Given the description of an element on the screen output the (x, y) to click on. 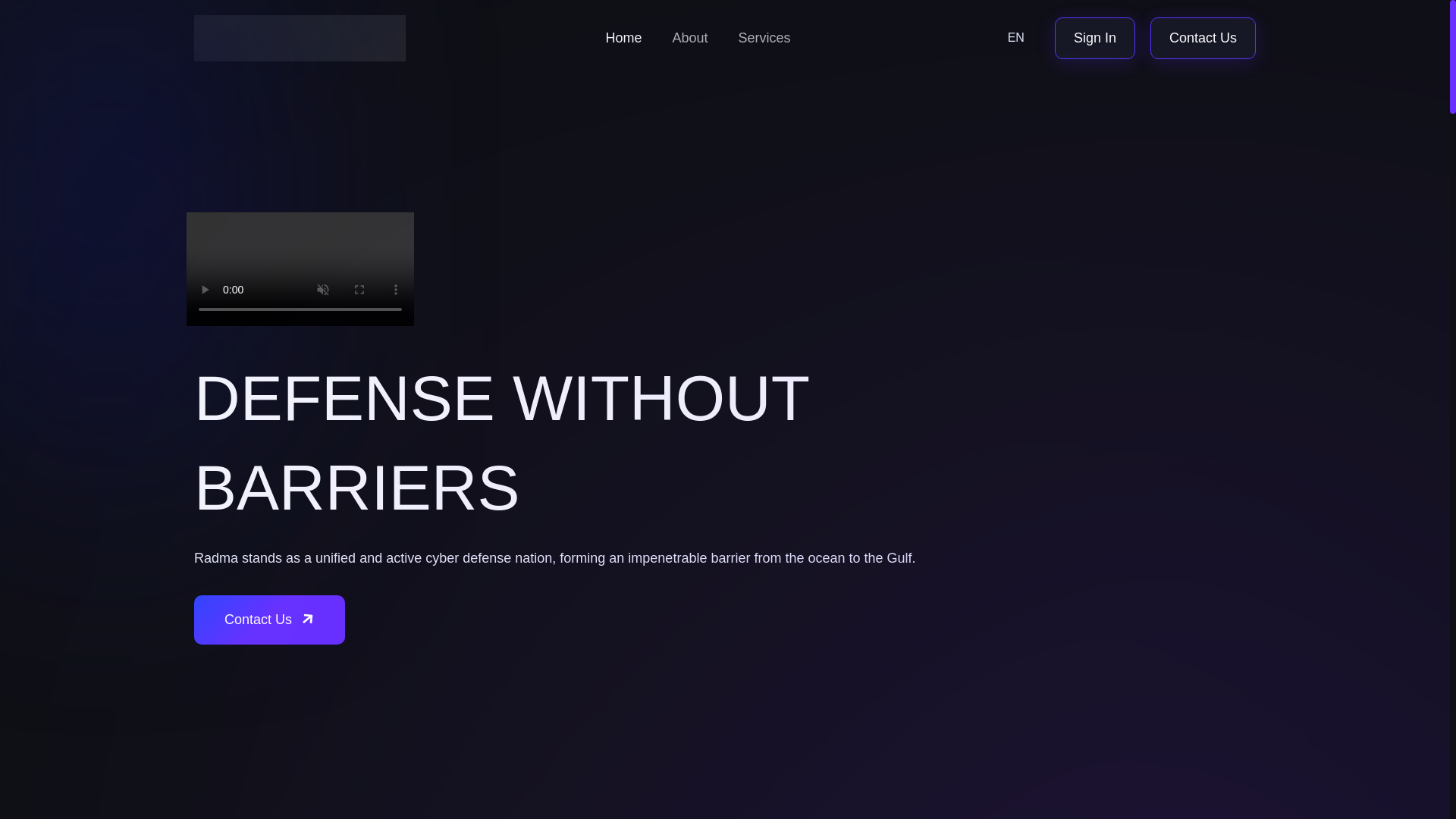
Home (622, 37)
Contact Us (1202, 37)
Services (764, 37)
Sign In (1094, 37)
About (689, 37)
EN (1015, 37)
